Given the description of an element on the screen output the (x, y) to click on. 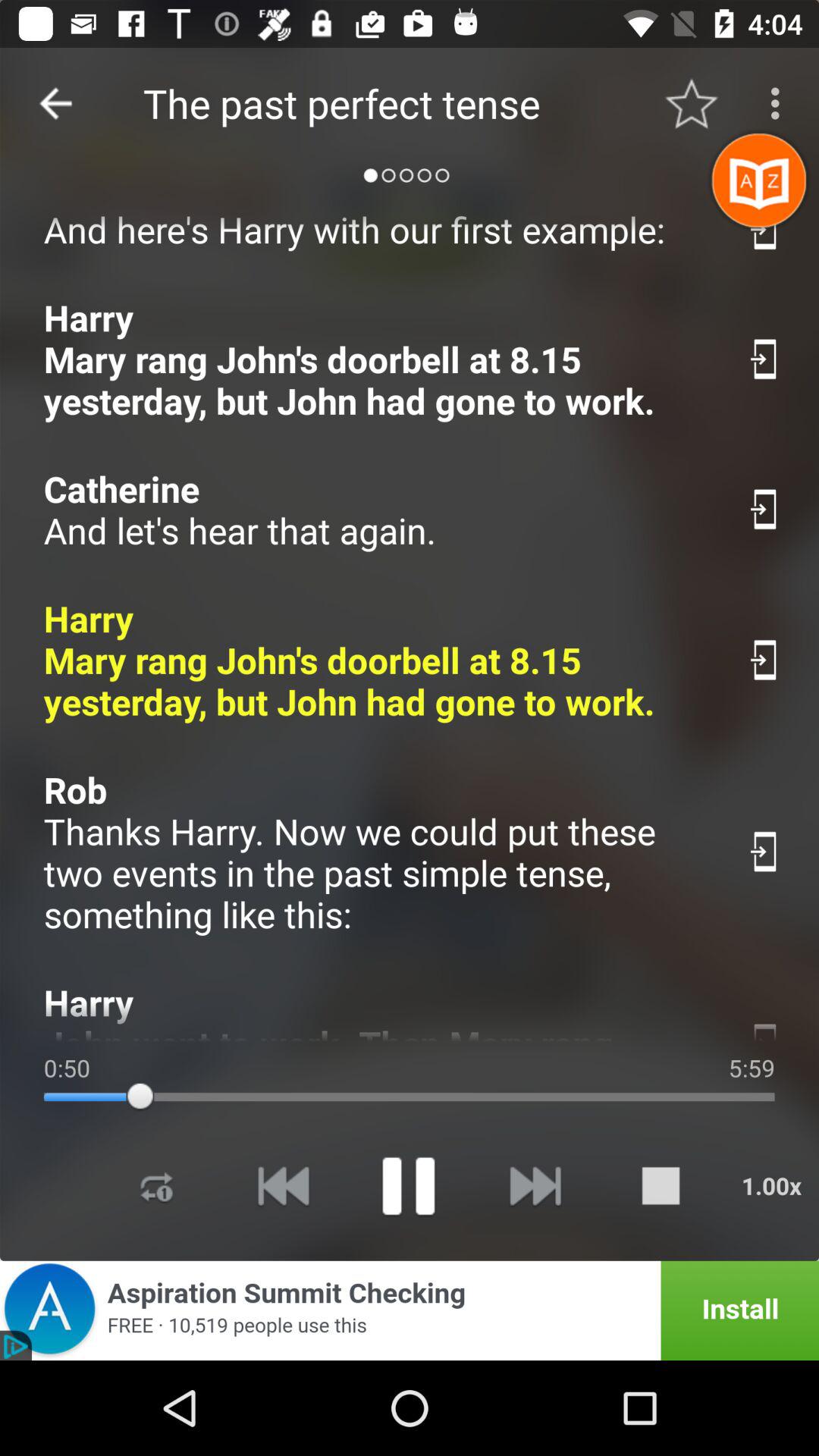
choose icon at the top left corner (55, 103)
